Given the description of an element on the screen output the (x, y) to click on. 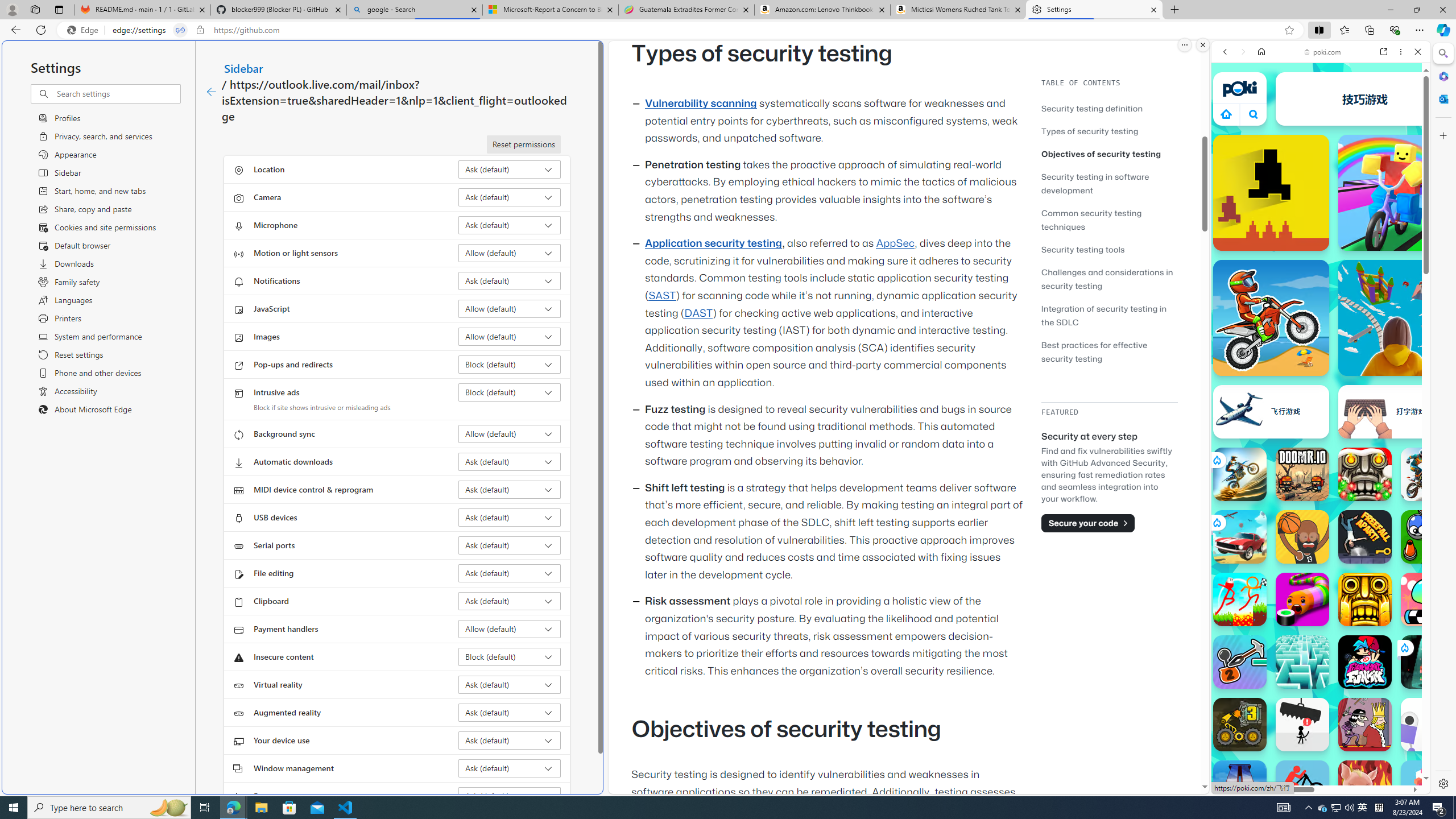
Big Tower Tiny Square 2 Big Tower Tiny Square 2 (1239, 787)
Dunkers 2 Dunkers 2 (1302, 536)
Notifications Ask (default) (509, 280)
Augmented reality Ask (default) (509, 712)
Shooting Games (1320, 295)
Temple Run 2: Frozen Festival (1364, 474)
Tabs in split screen (180, 29)
Combat Reloaded (1348, 574)
Stickman Parkour 3 (1239, 599)
Two Player Games (1320, 323)
Images Allow (default) (509, 336)
Two Player Games (1320, 323)
